Given the description of an element on the screen output the (x, y) to click on. 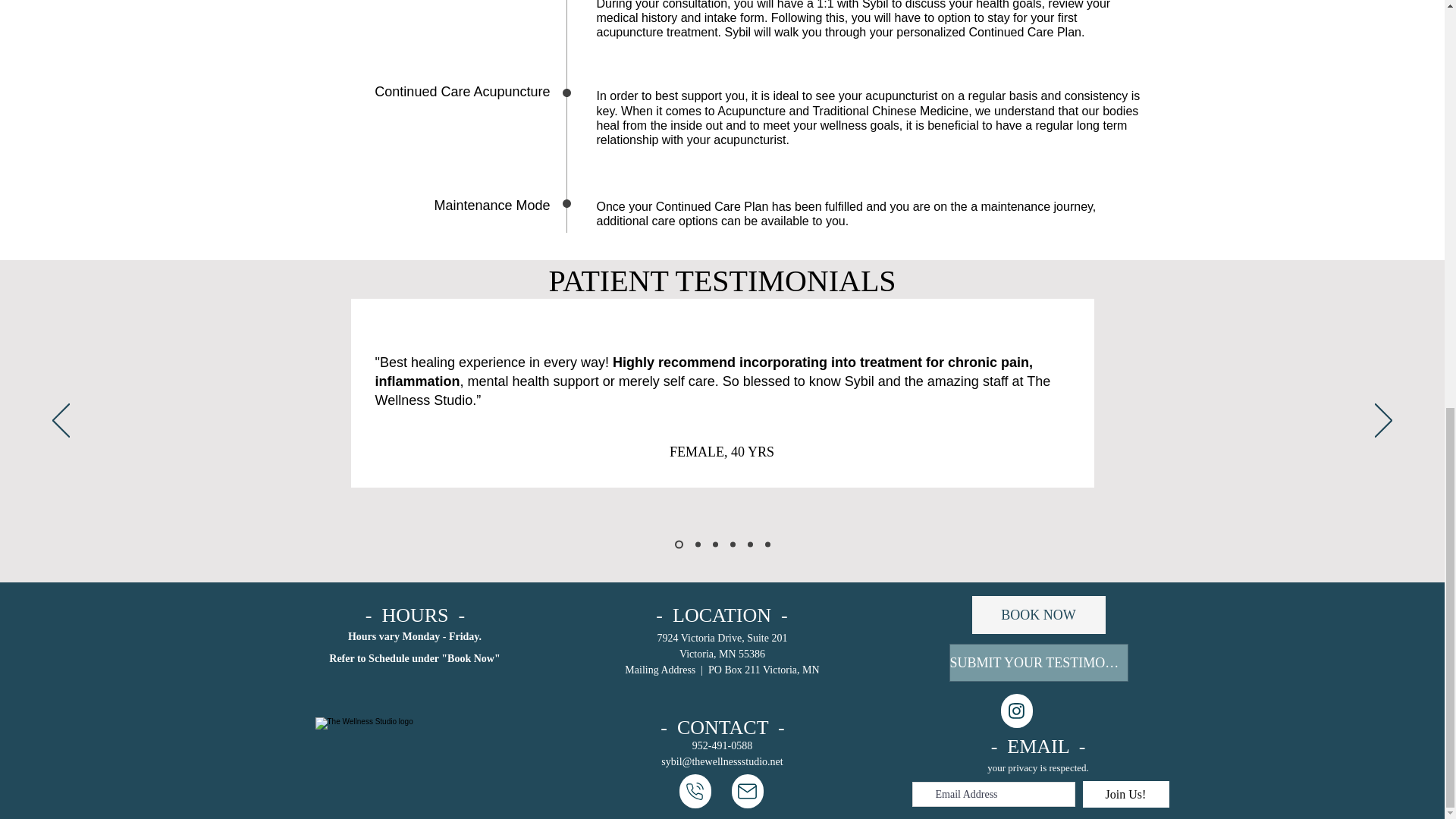
Join Us! (1125, 794)
BOOK NOW (1038, 614)
SUBMIT YOUR TESTIMONIAL (1038, 662)
